Given the description of an element on the screen output the (x, y) to click on. 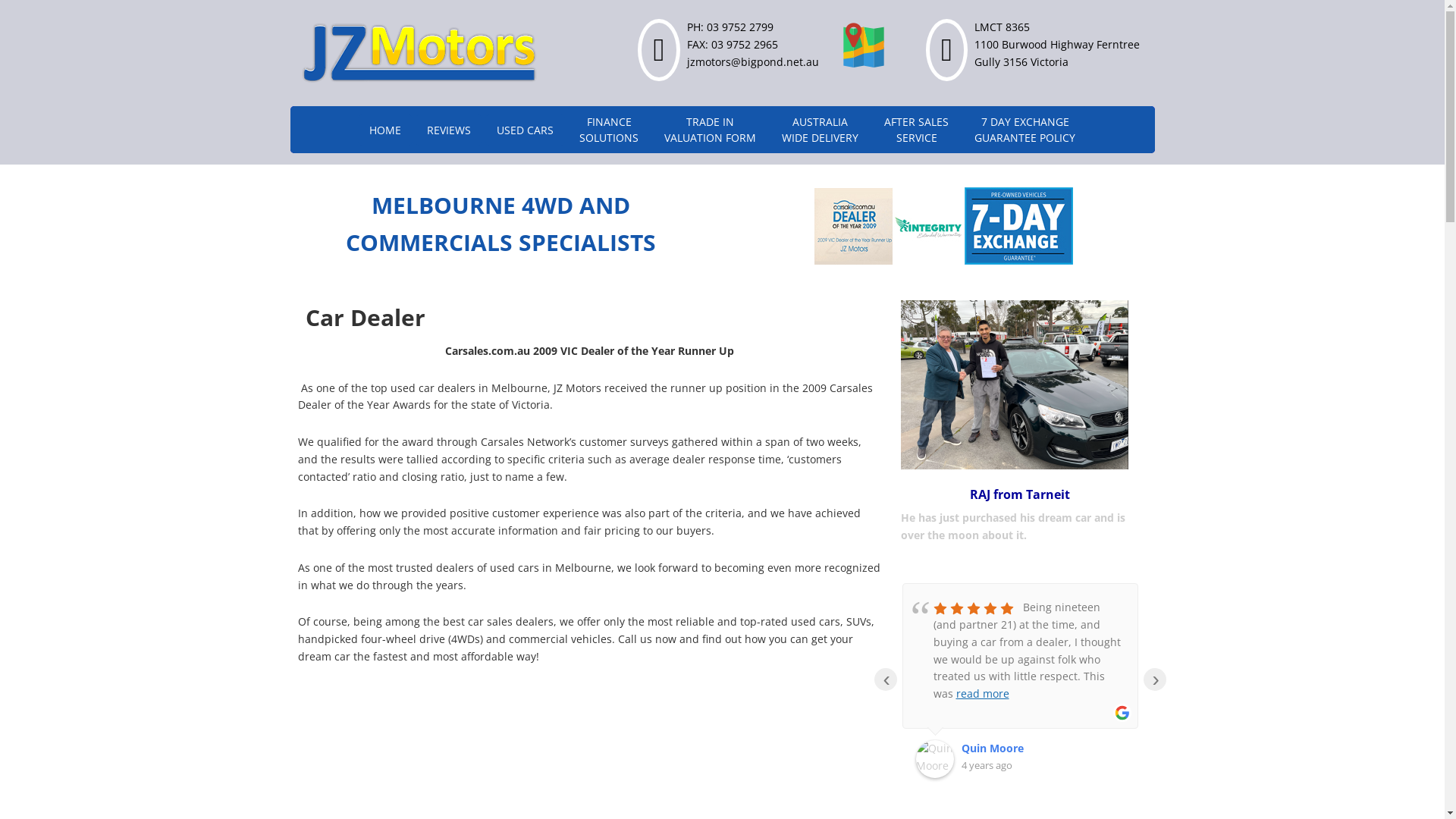
read more Element type: text (995, 693)
7 DAY EXCHANGE
GUARANTEE POLICY Element type: text (1024, 129)
Quin Moore Element type: text (996, 748)
FINANCE
SOLUTIONS Element type: text (608, 129)
REVIEWS Element type: text (448, 128)
AUSTRALIA
WIDE DELIVERY Element type: text (819, 129)
JZ MOTORS Element type: text (418, 53)
USED CARS Element type: text (524, 128)
HOME Element type: text (384, 128)
AFTER SALES
SERVICE Element type: text (916, 129)
TRADE IN
VALUATION FORM Element type: text (709, 129)
